Given the description of an element on the screen output the (x, y) to click on. 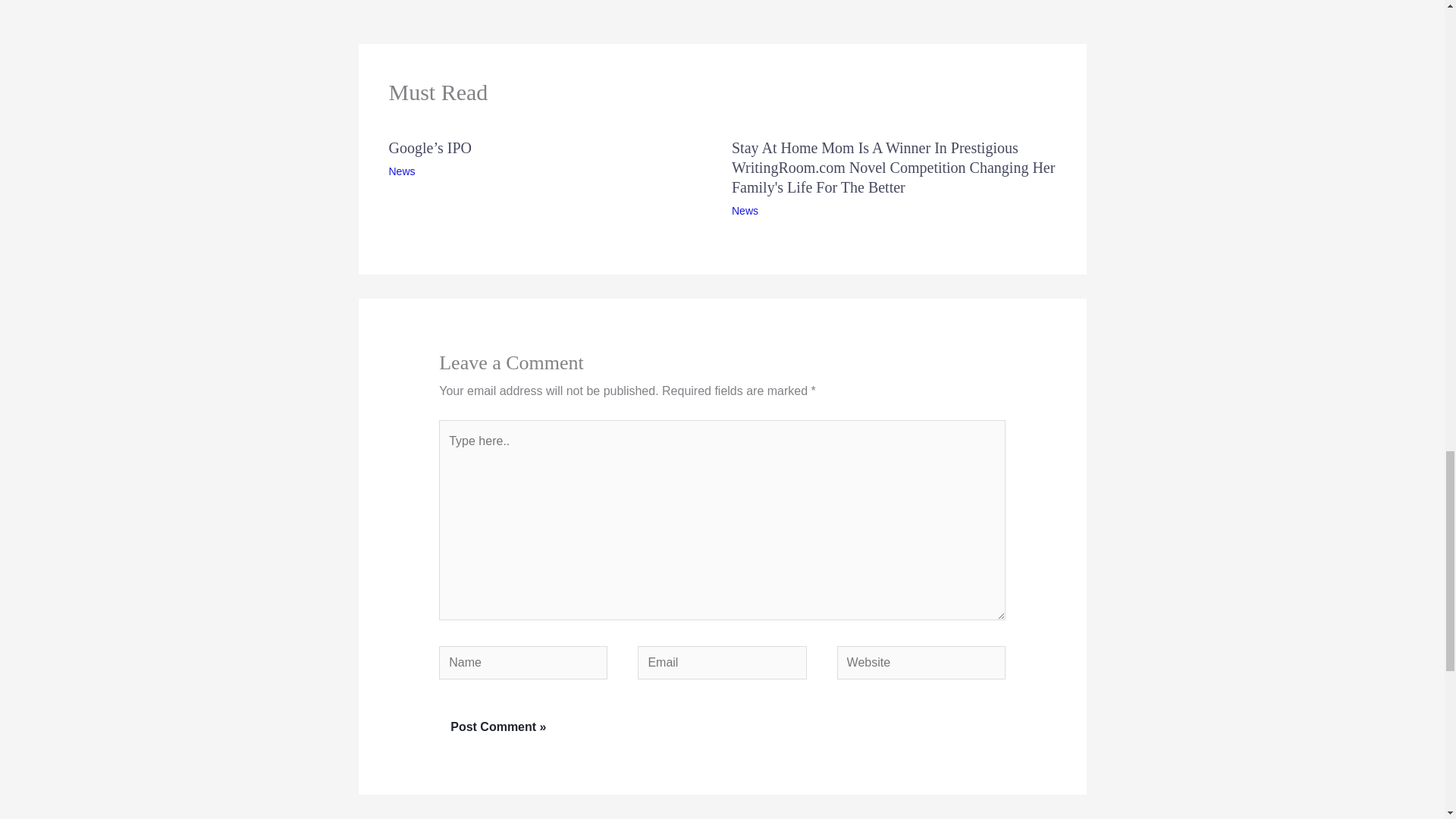
News (745, 210)
News (401, 171)
